Given the description of an element on the screen output the (x, y) to click on. 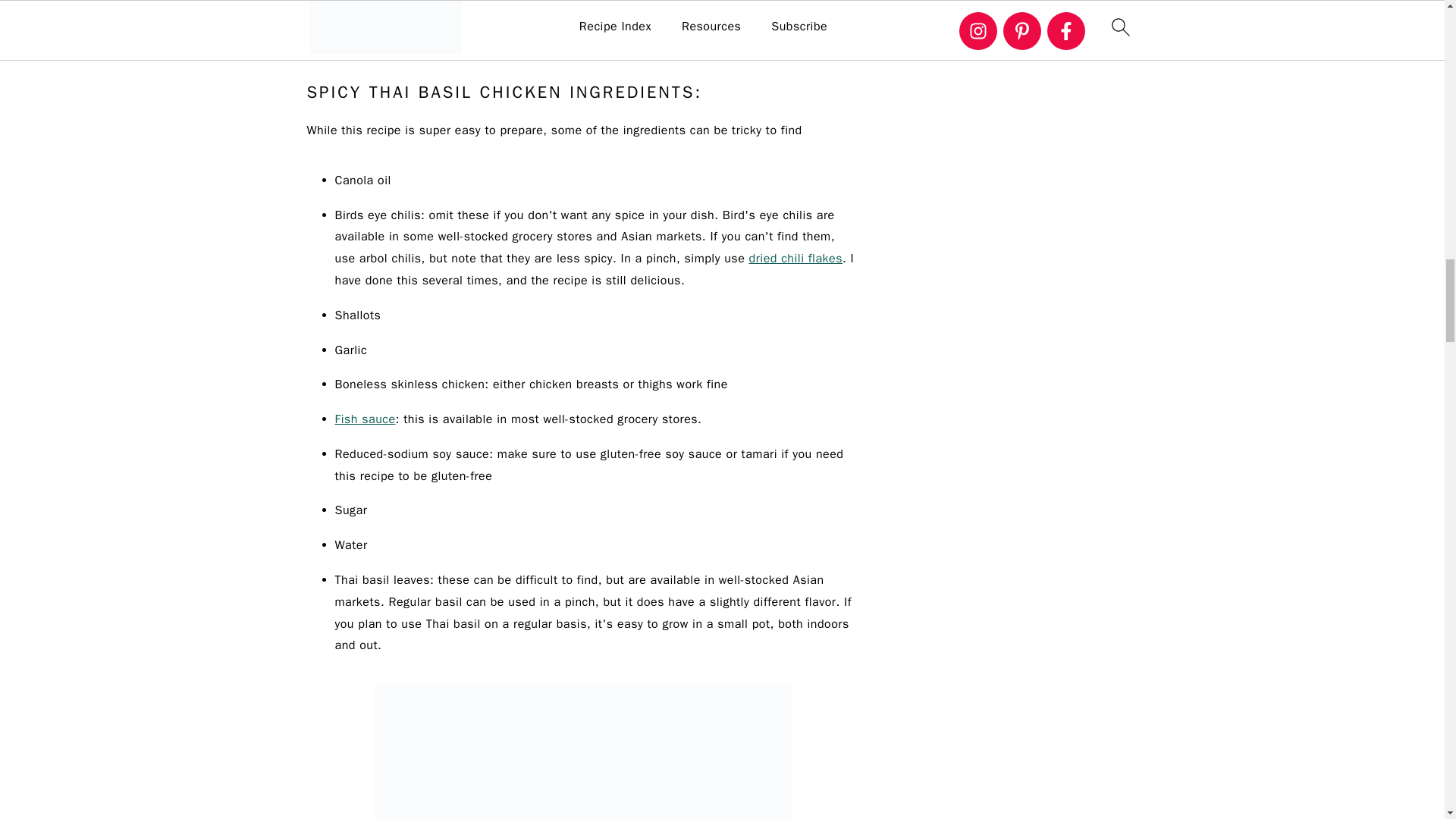
Spicy Thai Basil Chicken (583, 751)
